Given the description of an element on the screen output the (x, y) to click on. 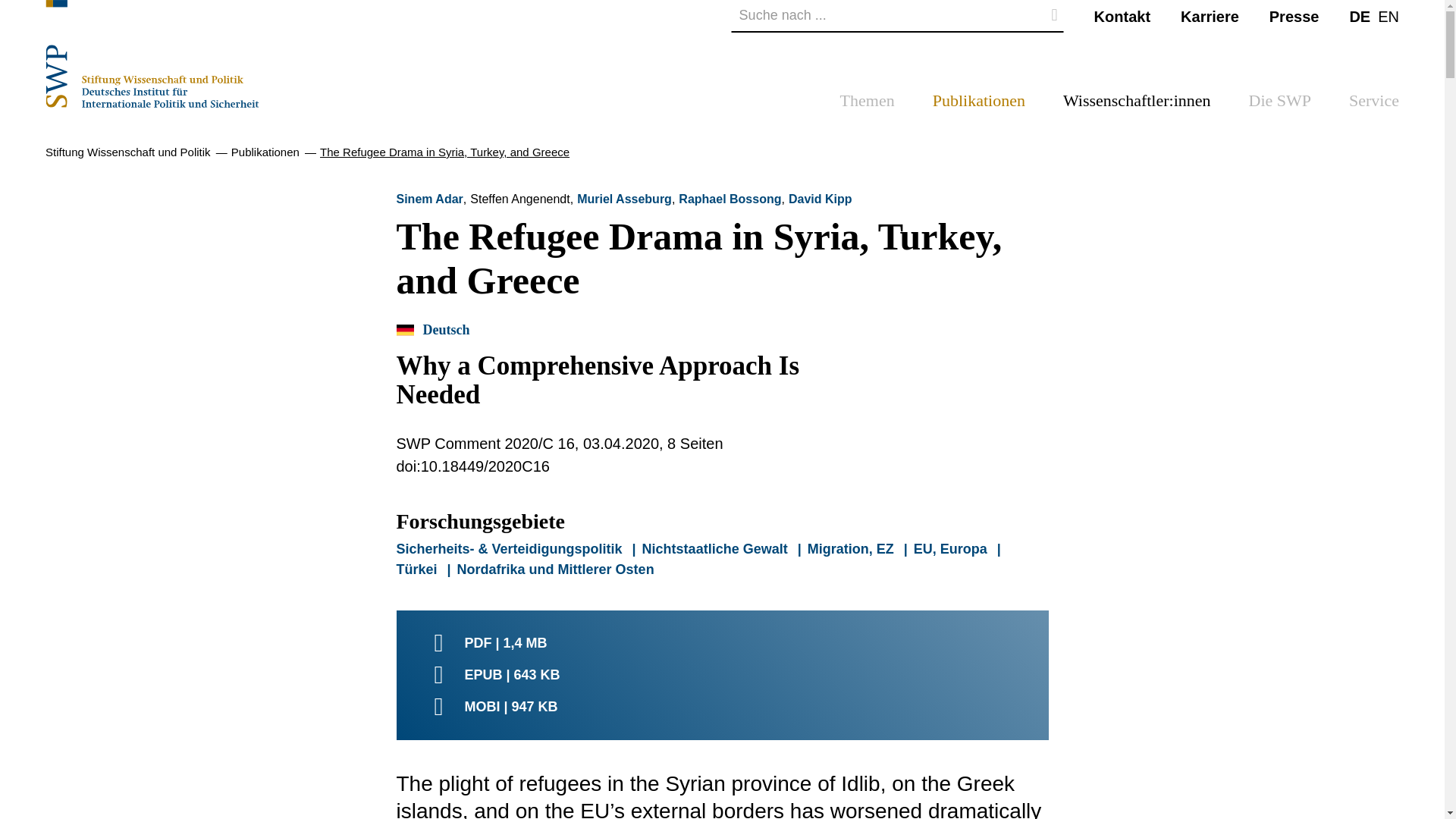
Deutsch (1359, 15)
Kontakt (1122, 15)
Karriere (1209, 15)
Presse (1294, 15)
EN (1388, 15)
Suche abschicken (1054, 15)
Themen (867, 104)
PDF-Datei; kann u.a. im Adobe Acrobat Reader gelesen werden (721, 642)
englisch (1388, 15)
